Given the description of an element on the screen output the (x, y) to click on. 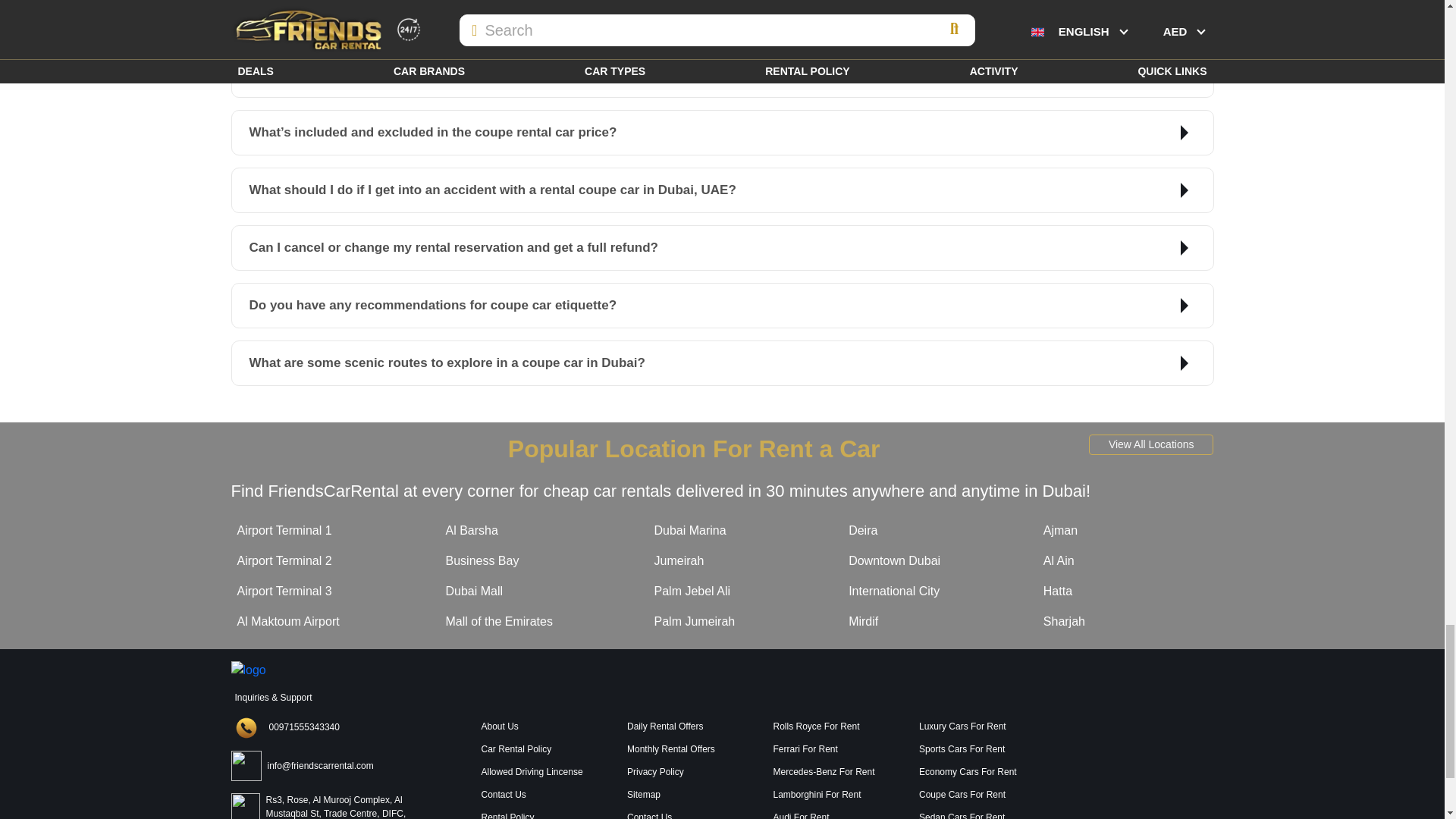
location (1138, 769)
